Given the description of an element on the screen output the (x, y) to click on. 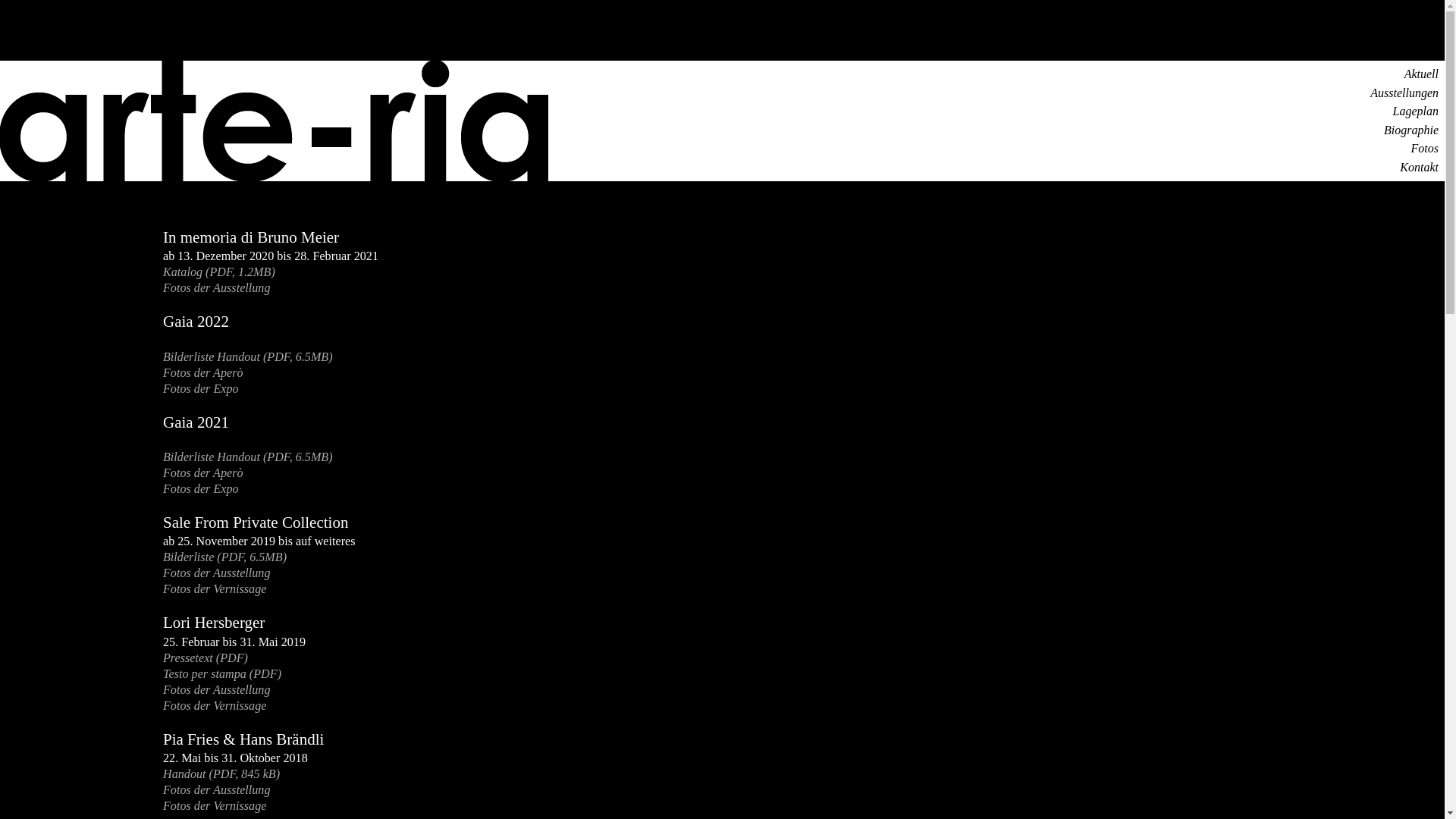
Fotos der Vernissage Element type: text (214, 588)
Fotos der Expo Element type: text (200, 388)
Fotos der Vernissage Element type: text (214, 805)
Aktuell Element type: text (1421, 73)
Ausstellungen Element type: text (1404, 92)
Handout (PDF, 845 kB) Element type: text (221, 773)
Bilderliste (PDF, 6.5MB) Element type: text (224, 556)
Biographie Element type: text (1410, 129)
Fotos der Expo Element type: text (200, 488)
Bilderliste Handout (PDF, 6.5MB) Element type: text (247, 356)
Fotos der Vernissage Element type: text (214, 705)
Fotos der Ausstellung Element type: text (216, 689)
Pressetext (PDF) Element type: text (205, 657)
Testo per stampa (PDF) Element type: text (222, 673)
Fotos der Ausstellung Element type: text (216, 287)
Bilderliste Handout (PDF, 6.5MB) Element type: text (247, 456)
Fotos der Ausstellung Element type: text (216, 789)
Fotos der Ausstellung Element type: text (216, 572)
Fotos Element type: text (1424, 147)
Katalog (PDF, 1.2MB) Element type: text (219, 271)
Kontakt Element type: text (1418, 166)
Lageplan Element type: text (1415, 110)
